Given the description of an element on the screen output the (x, y) to click on. 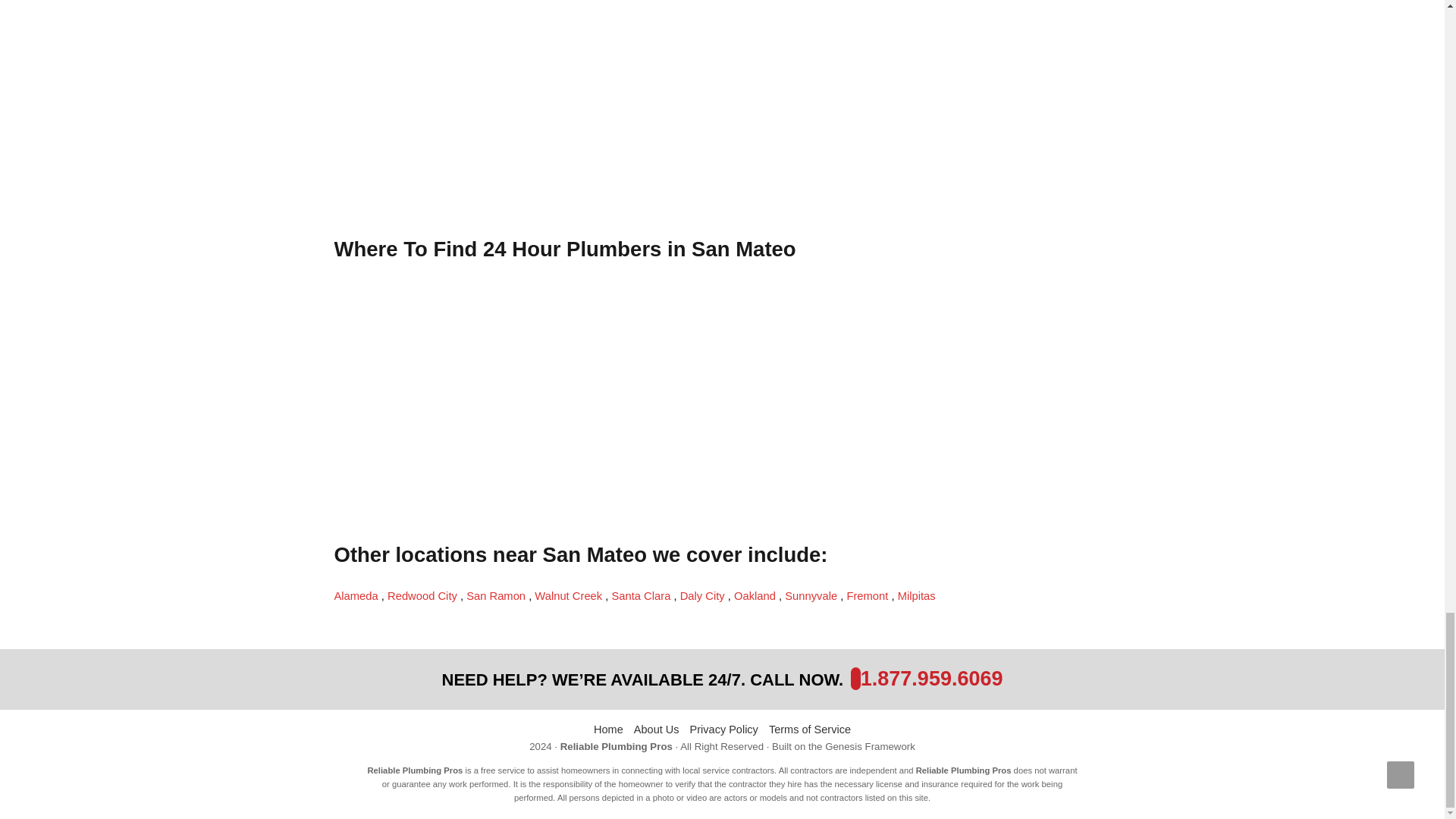
Sunnyvale (812, 595)
Plumbing Alameda, CA (356, 595)
San Ramon (496, 595)
Walnut Creek (569, 595)
Redwood City (423, 595)
Plumbing Santa Clara (641, 595)
Plumbing in Fremont (868, 595)
Plumbing Oakland, CA (755, 595)
1.877.959.6069 (931, 678)
Plumbing Sunnyvale, CA (812, 595)
